Given the description of an element on the screen output the (x, y) to click on. 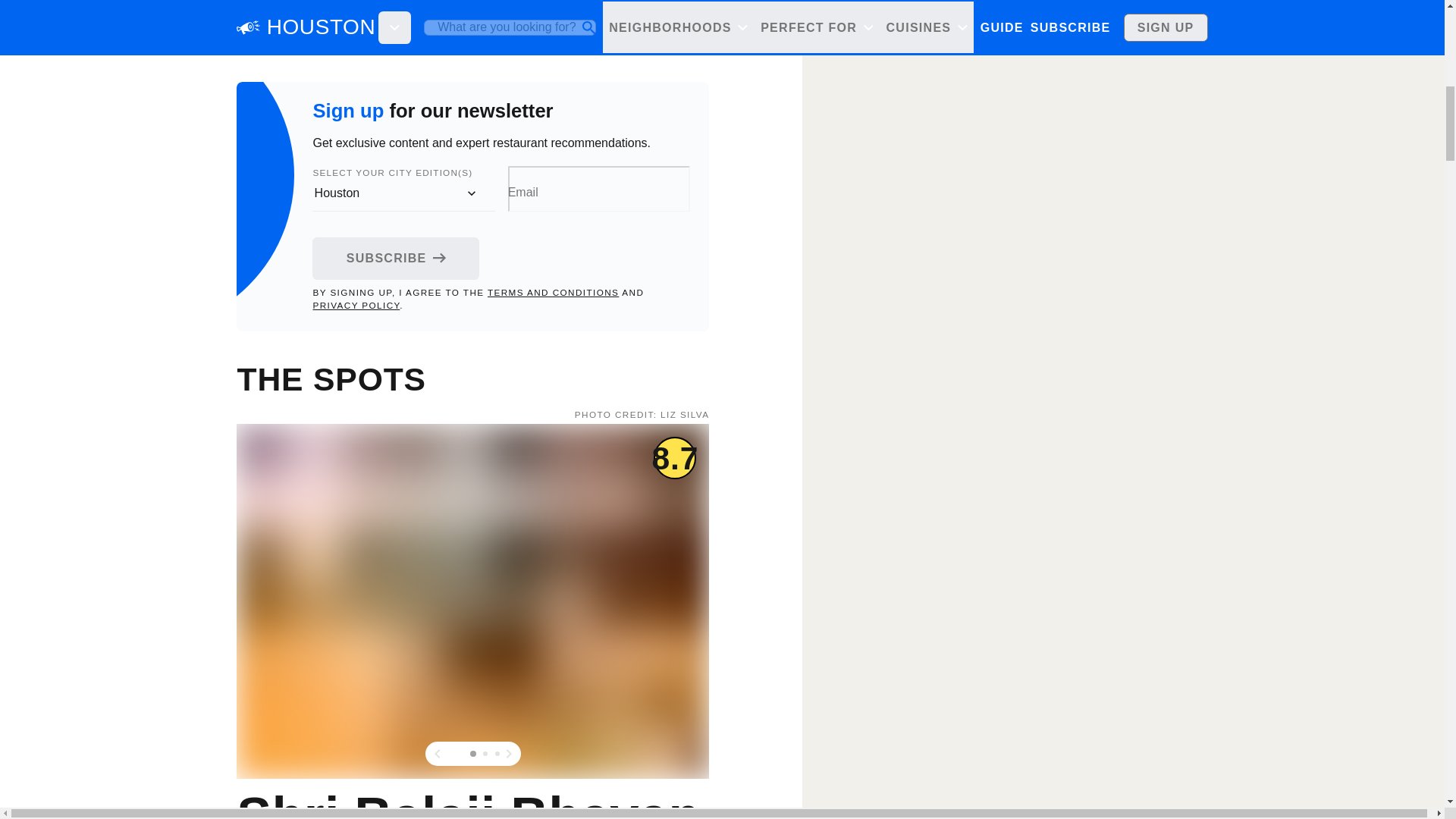
SUBSCRIBE (396, 258)
TERMS AND CONDITIONS (552, 292)
Shri Balaji Bhavan (464, 798)
PRIVACY POLICY (355, 305)
